Given the description of an element on the screen output the (x, y) to click on. 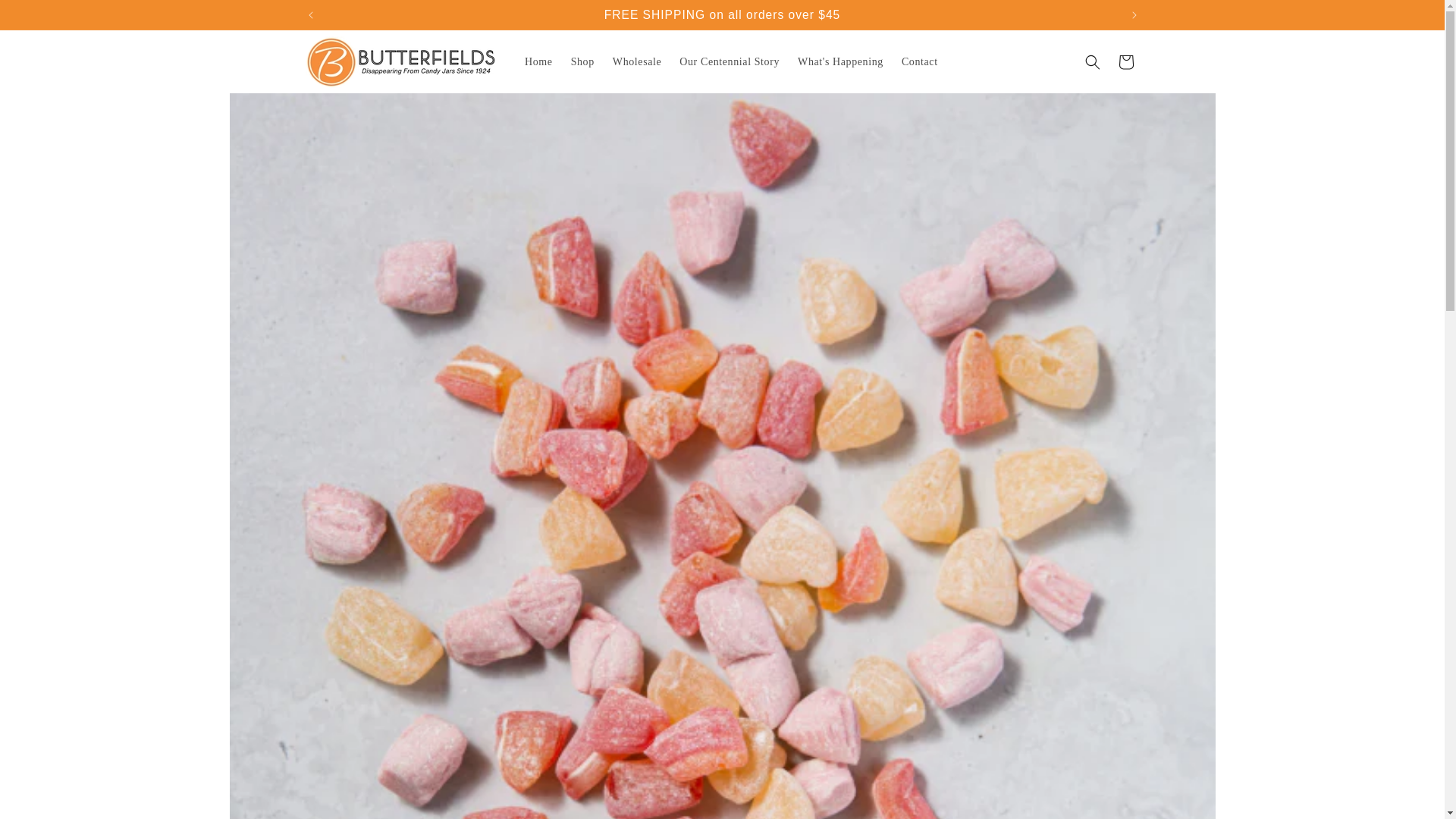
Wholesale (636, 61)
Shop (583, 61)
Our Centennial Story (729, 61)
What's Happening (840, 61)
Cart (1124, 61)
Contact (919, 61)
Home (538, 61)
Skip to content (46, 18)
